Given the description of an element on the screen output the (x, y) to click on. 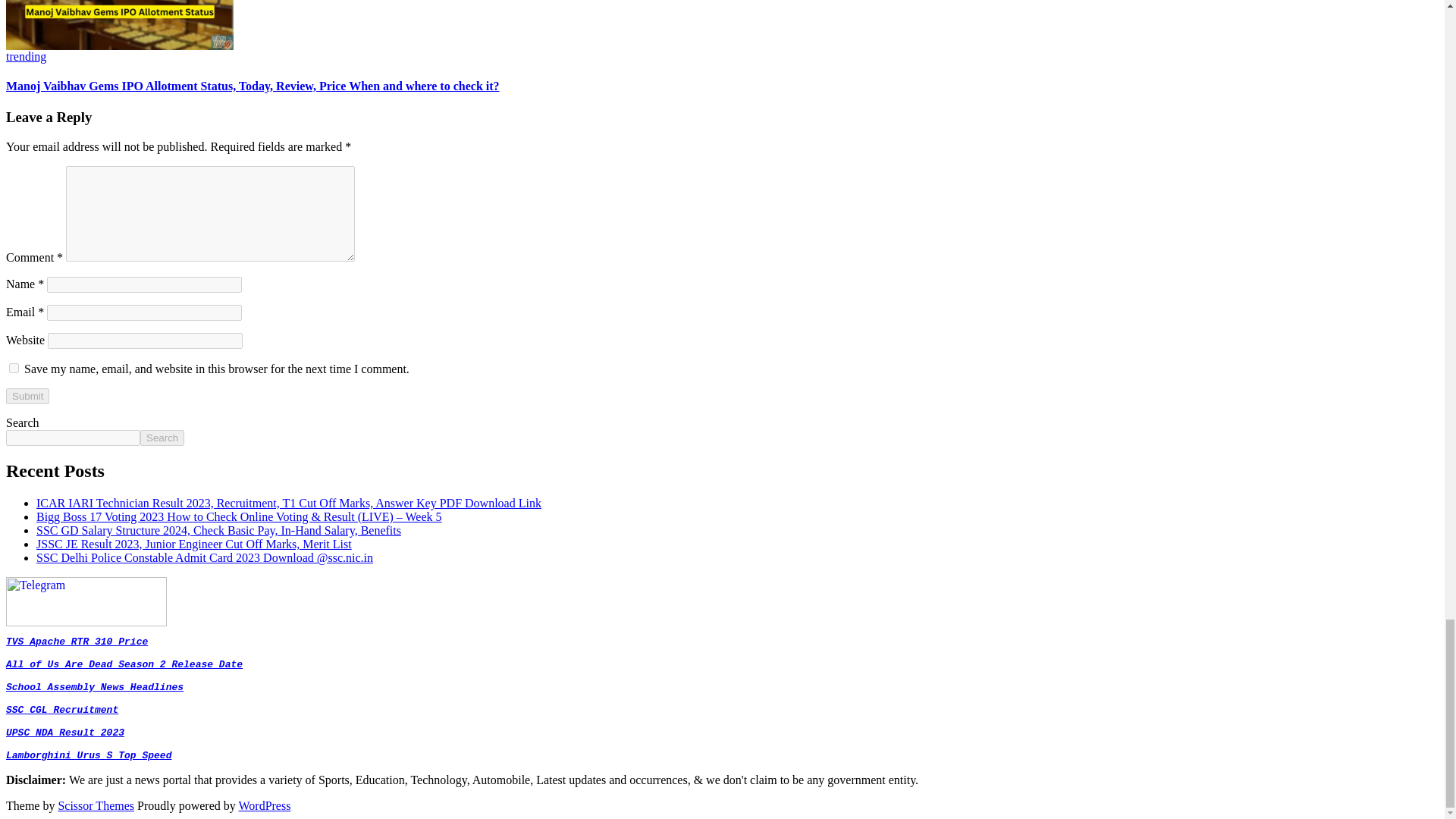
Submit (27, 396)
Submit (27, 396)
yes (13, 368)
Search (161, 437)
trending (25, 56)
TVS Apache RTR 310 Price (76, 641)
Telegram (86, 621)
SSC CGL Recruitment (61, 709)
School Assembly News Headlines (94, 686)
All of Us Are Dead Season 2 Release Date (124, 664)
